Given the description of an element on the screen output the (x, y) to click on. 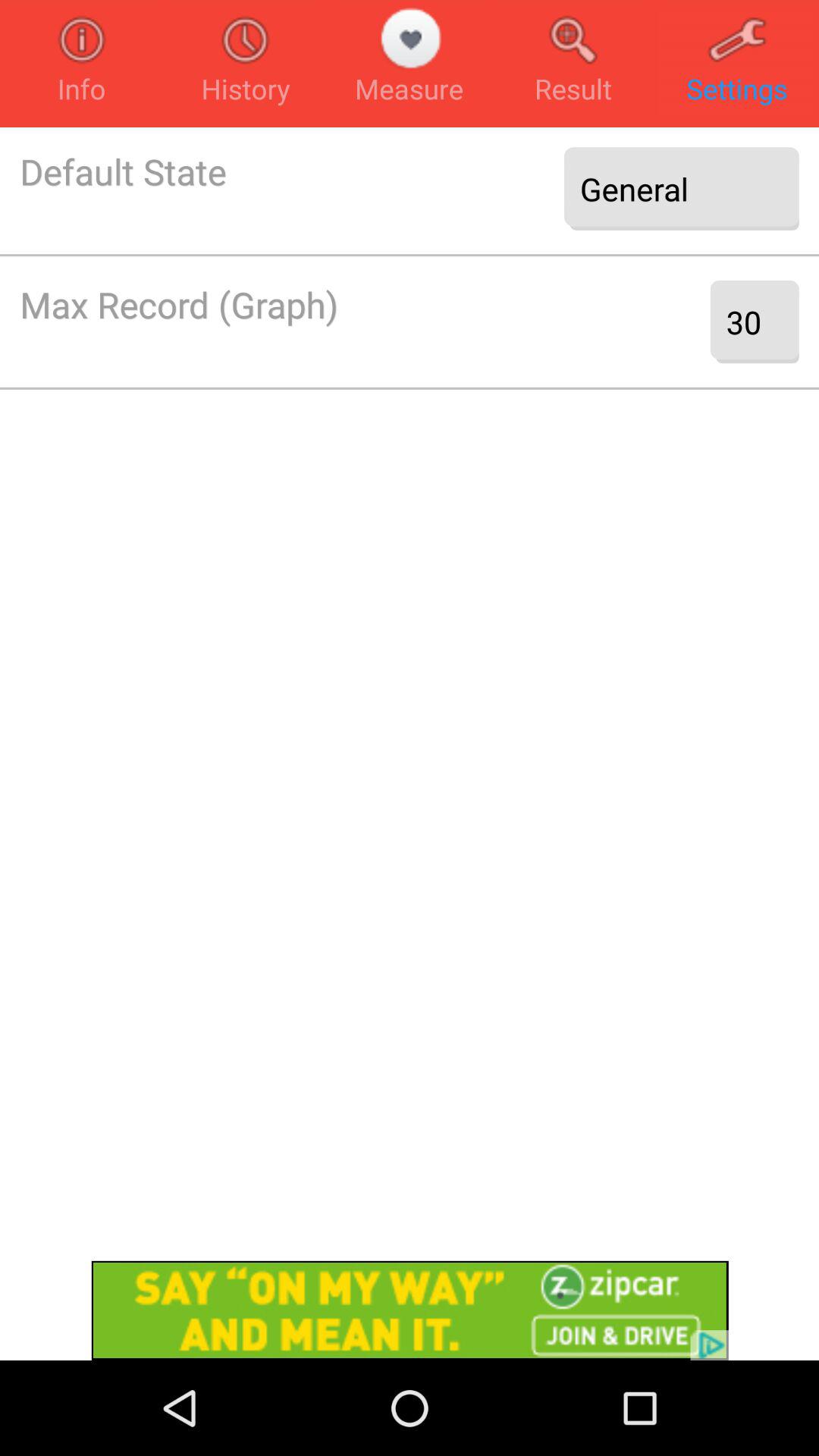
open advertisement (409, 1310)
